Given the description of an element on the screen output the (x, y) to click on. 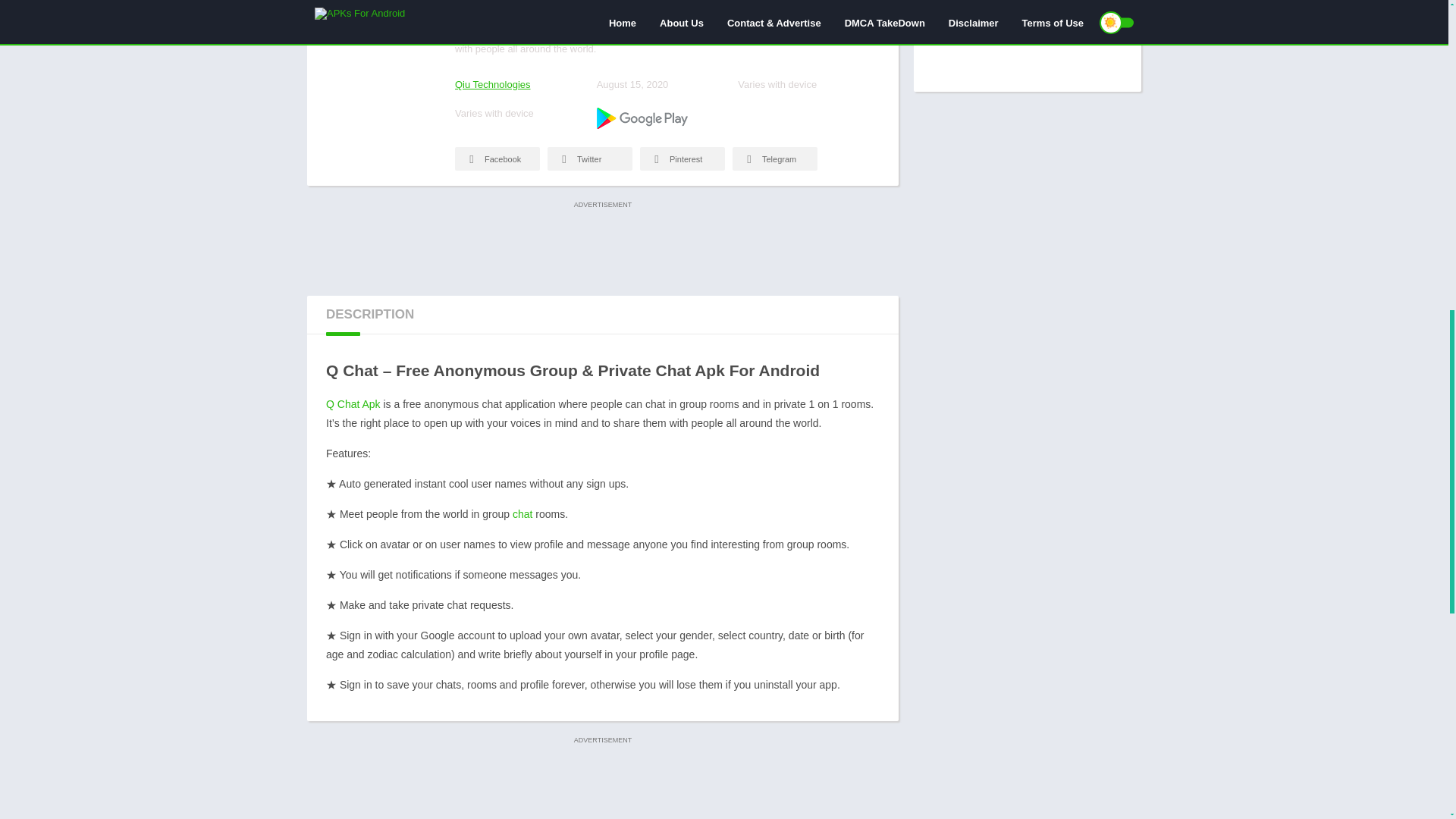
Facebook (497, 158)
Qiu Technologies (492, 84)
Telegram (774, 158)
Pinterest (682, 158)
Twitter (589, 158)
